Given the description of an element on the screen output the (x, y) to click on. 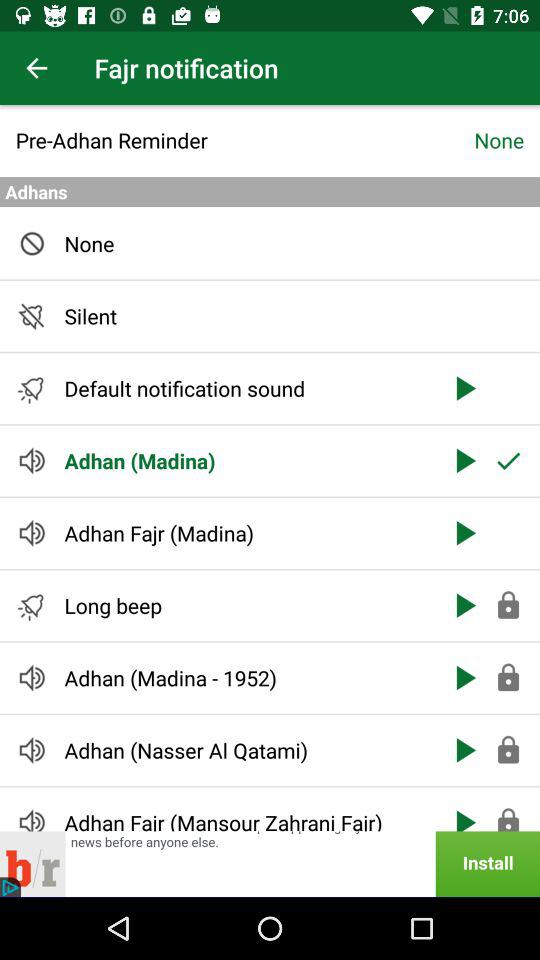
tap the icon to the left of fajr notification item (36, 68)
